Given the description of an element on the screen output the (x, y) to click on. 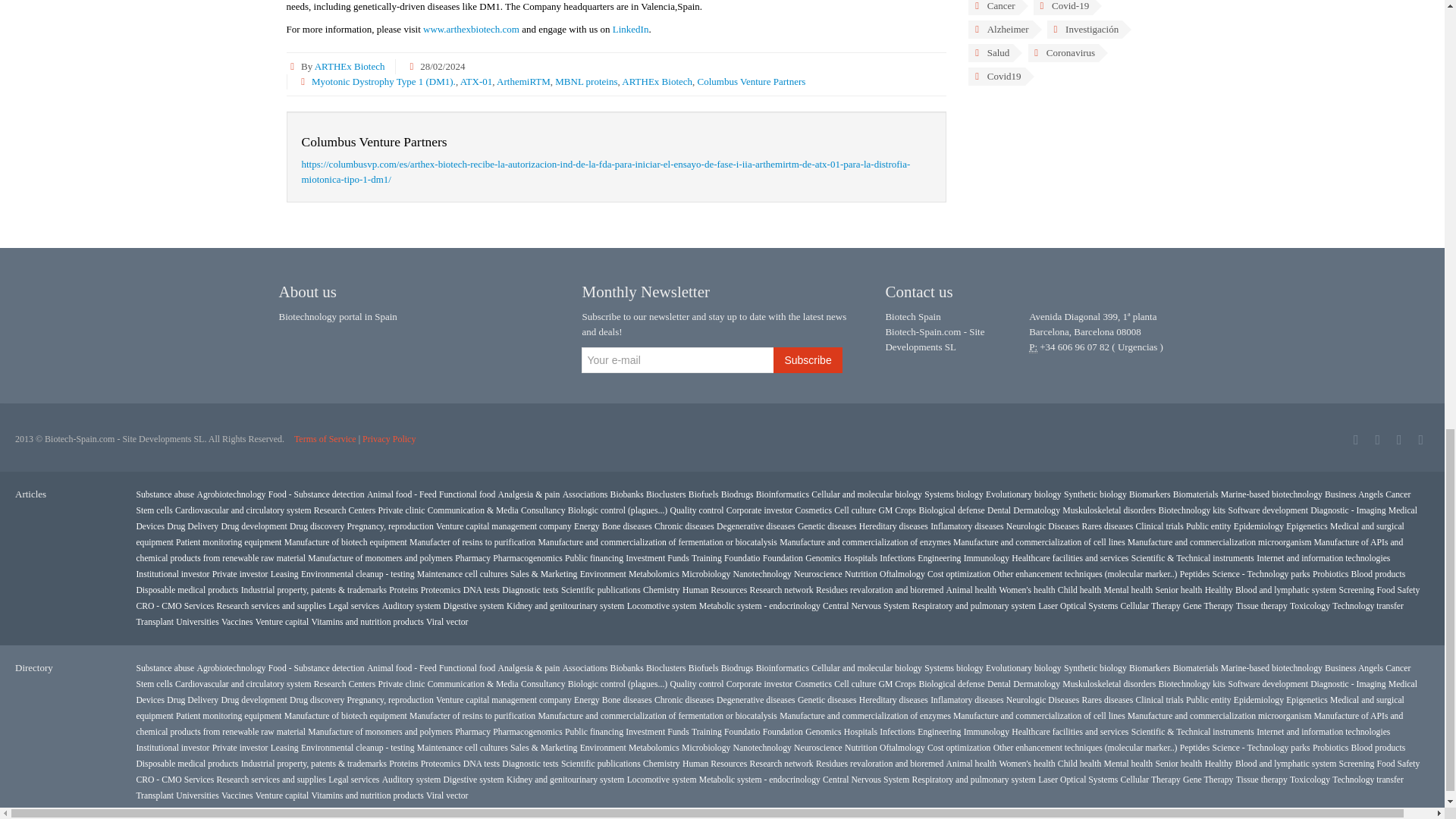
www.arthexbiotech.com (471, 29)
MBNL proteins (585, 81)
Columbus Venture Partners (751, 81)
ARTHEx Biotech (349, 66)
ATX-01 (476, 81)
LinkedIn (630, 29)
ArthemiRTM (523, 81)
ARTHEx Biotech (657, 81)
